Given the description of an element on the screen output the (x, y) to click on. 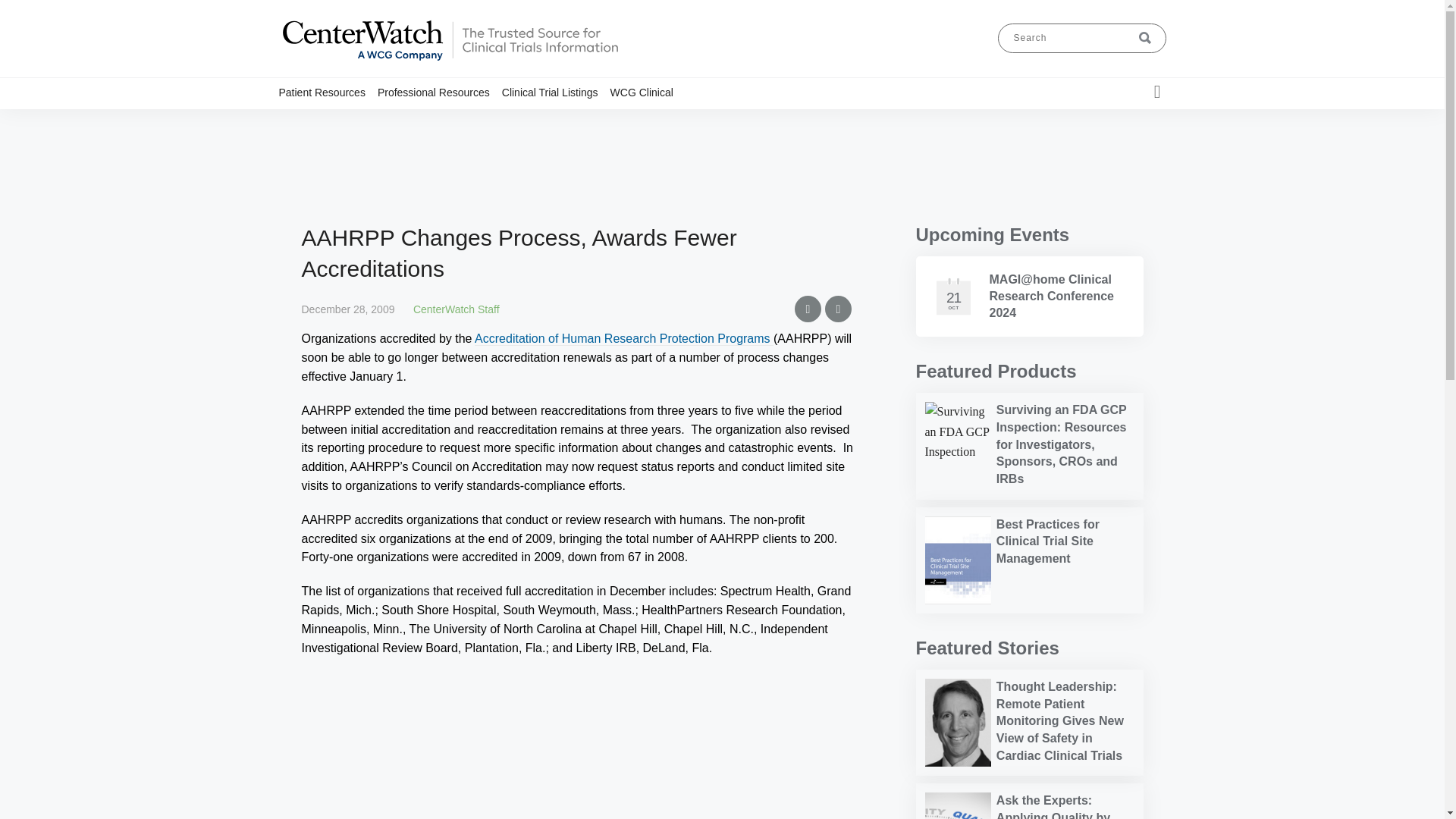
Benchmark Reports (464, 121)
Patient Resources (328, 91)
Featured Products (996, 371)
Accreditation of Human Research Protection Programs (623, 338)
What are Clinical Trials? (360, 121)
Clinical Trial Listings (354, 121)
CenterWatch Staff (456, 309)
Events (483, 121)
Newsletters (484, 121)
